Given the description of an element on the screen output the (x, y) to click on. 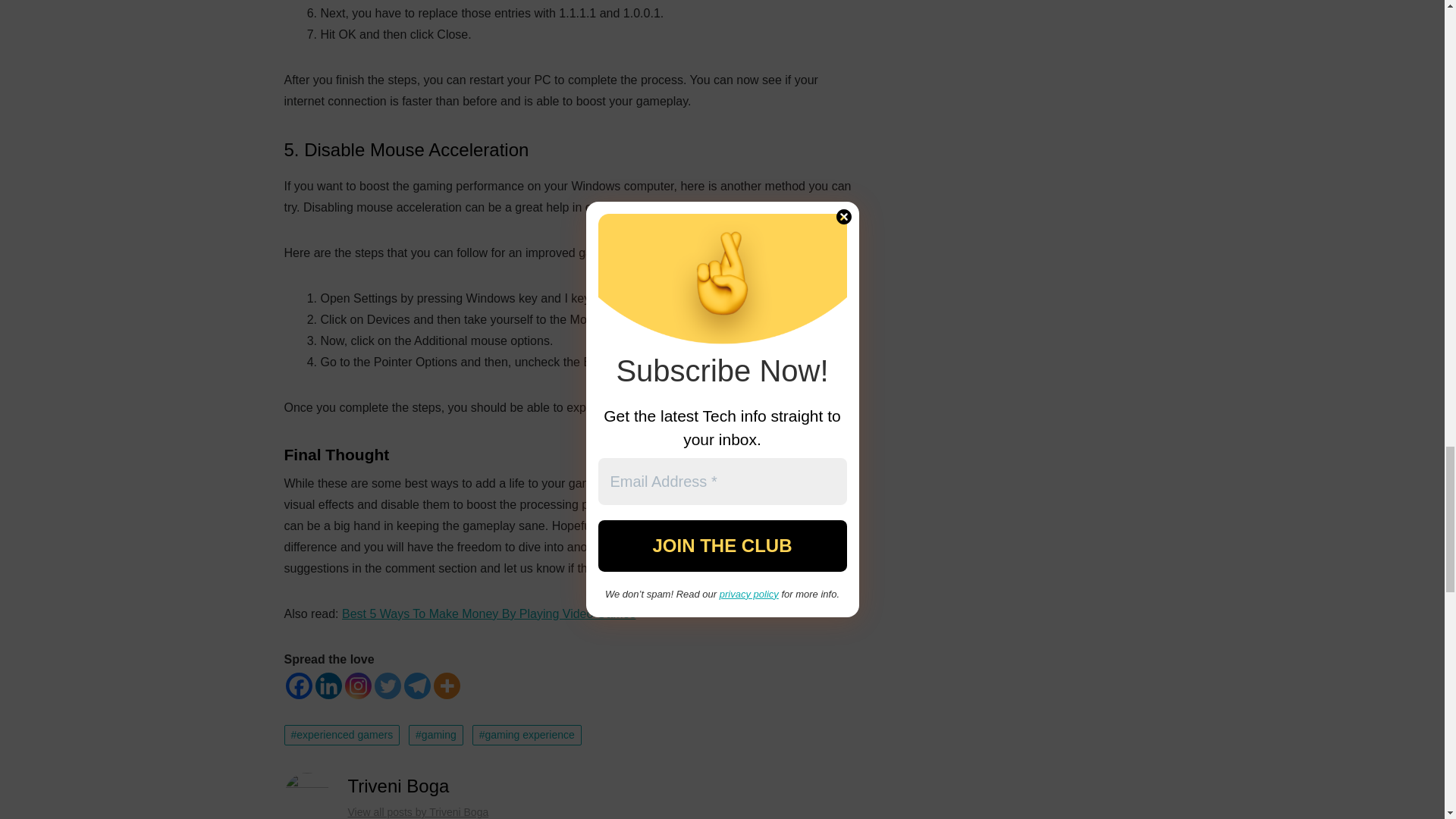
Telegram (416, 685)
Best 5 Ways To Make Money By Playing Video Games (488, 613)
gaming experience (525, 735)
View all posts by Triveni Boga (417, 811)
Linkedin (328, 685)
gaming (436, 735)
Facebook (298, 685)
Twitter (387, 685)
More (446, 685)
Instagram (357, 685)
experienced gamers (340, 735)
